Given the description of an element on the screen output the (x, y) to click on. 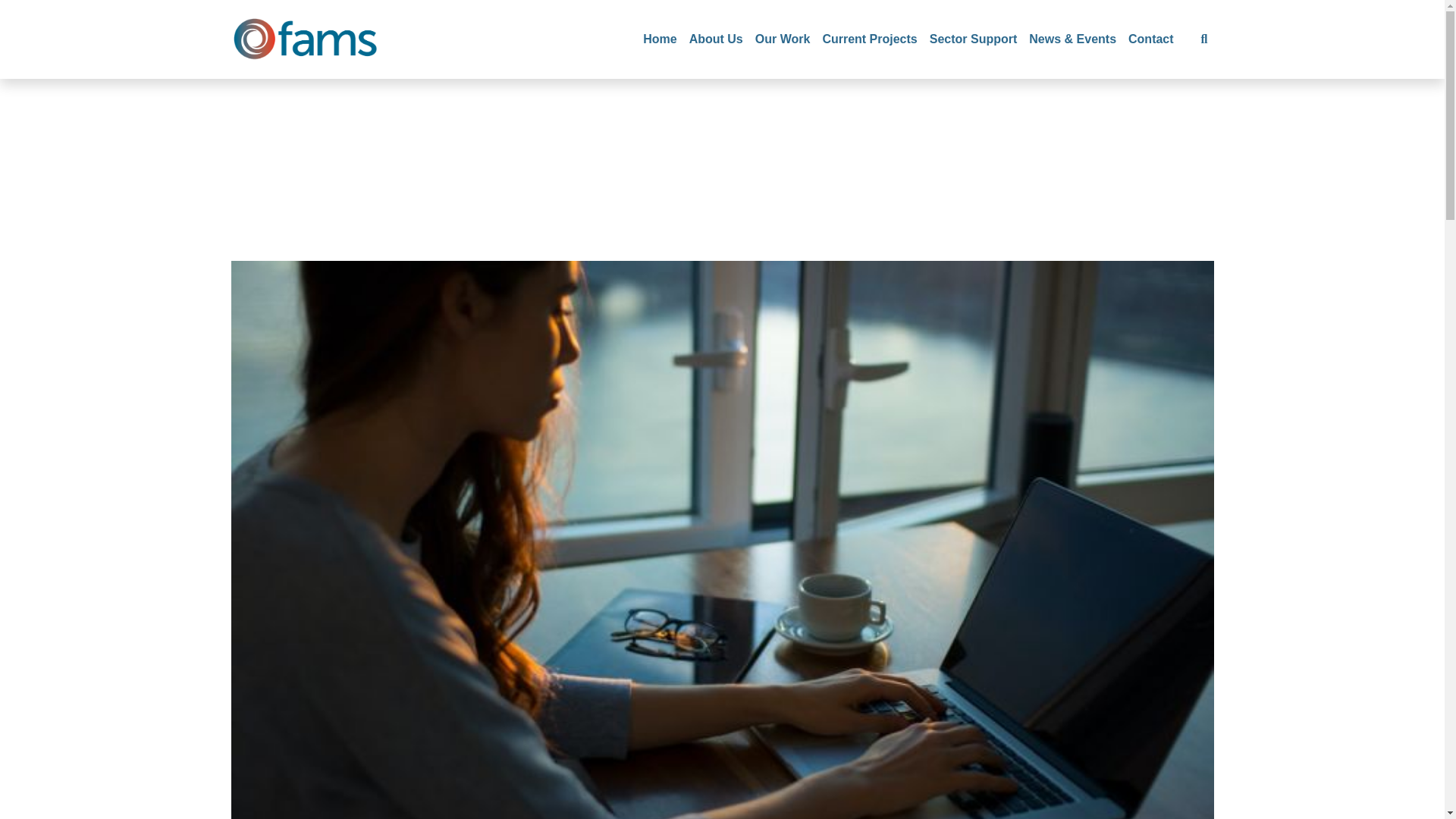
About Us (715, 39)
Home (659, 39)
